Given the description of an element on the screen output the (x, y) to click on. 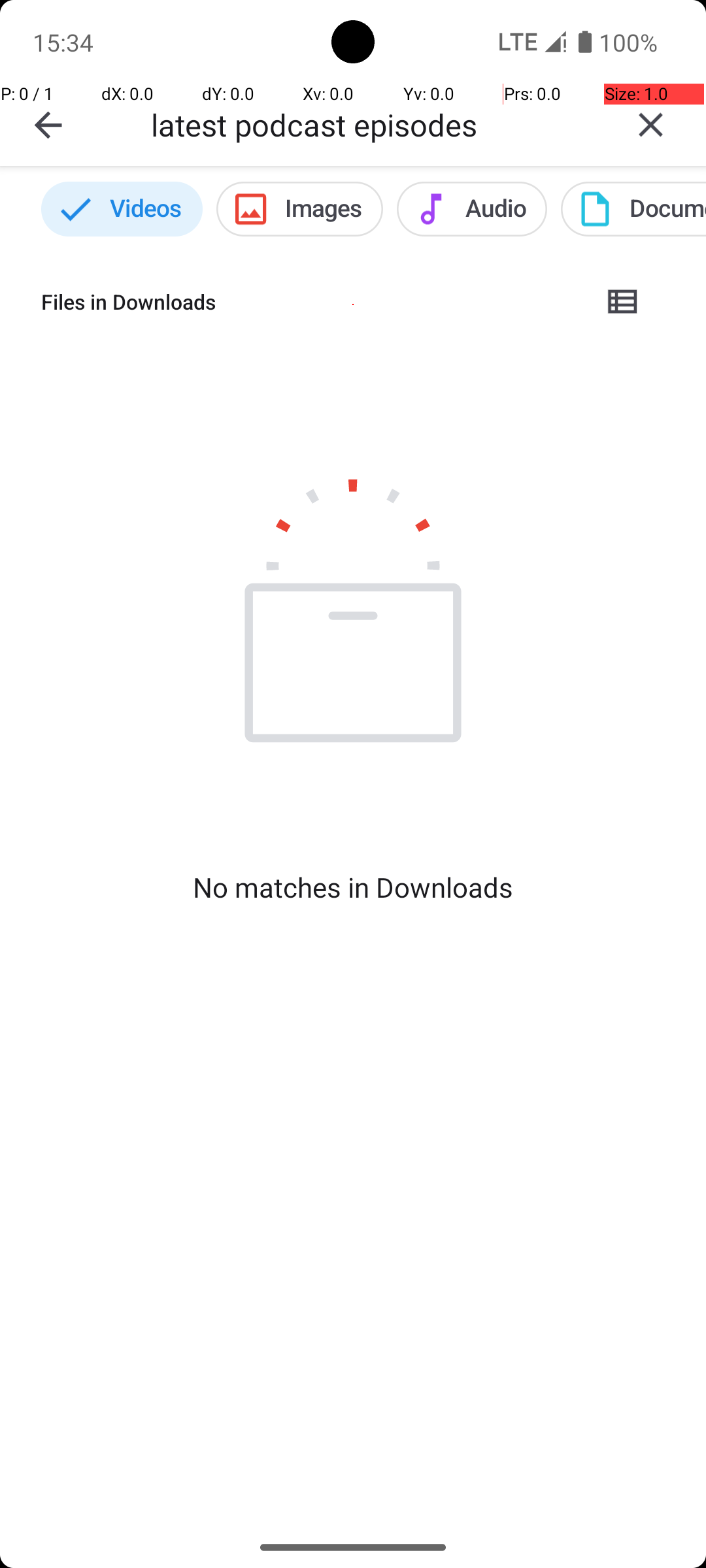
latest podcast episodes Element type: android.widget.AutoCompleteTextView (373, 124)
Clear query Element type: android.widget.ImageView (650, 124)
